Given the description of an element on the screen output the (x, y) to click on. 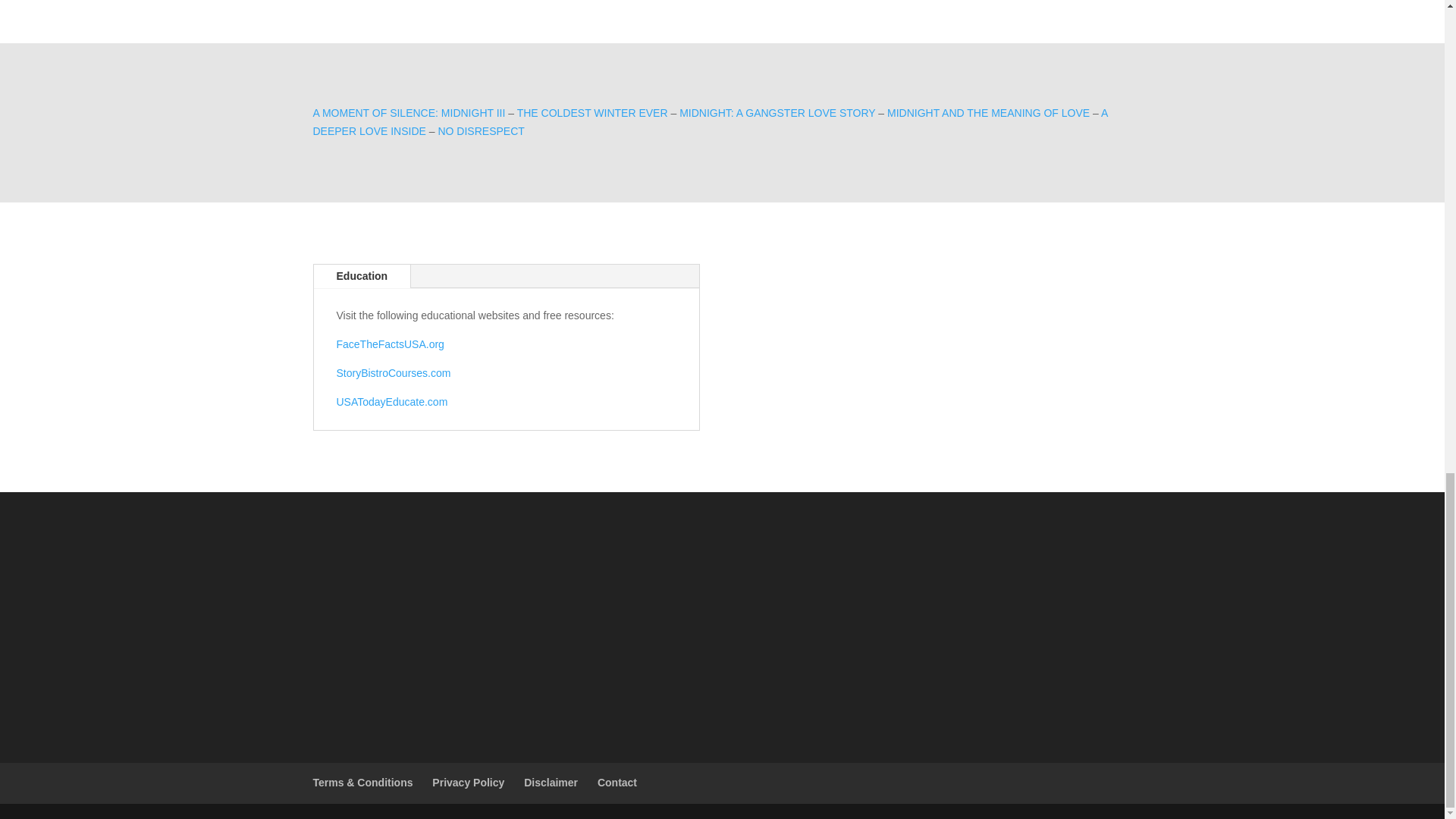
Education (362, 276)
StoryBistroCourses.com (393, 372)
A DEEPER LOVE INSIDE (709, 122)
MIDNIGHT AND THE MEANING OF LOVE (987, 112)
FaceTheFactsUSA.org (390, 344)
NO DISRESPECT (481, 131)
THE COLDEST WINTER EVER (592, 112)
USATodayEducate.com (392, 401)
A MOMENT OF SILENCE: MIDNIGHT III (409, 112)
MIDNIGHT: A GANGSTER LOVE STORY (777, 112)
Privacy Policy (467, 782)
